Given the description of an element on the screen output the (x, y) to click on. 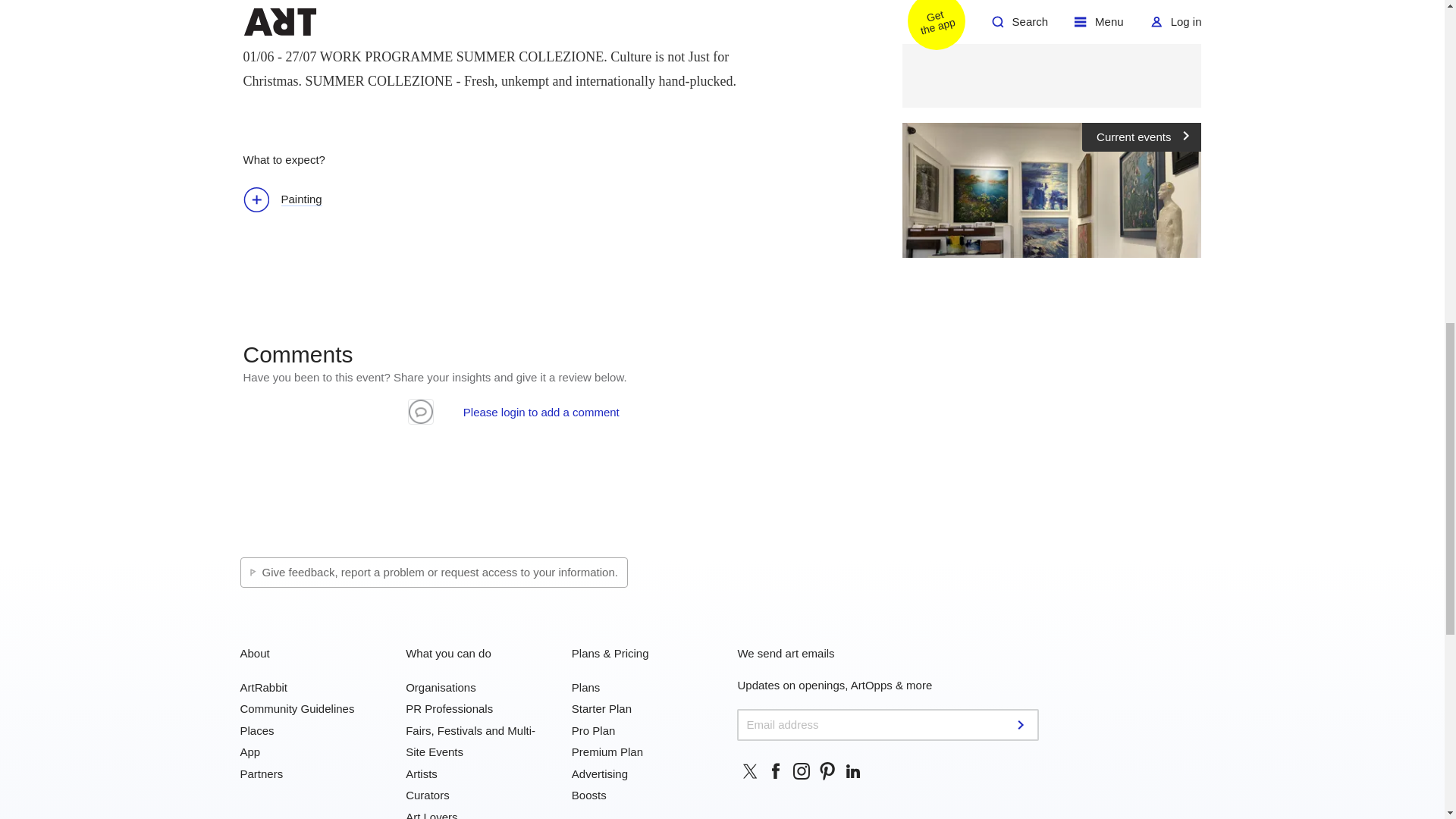
submit (1021, 724)
Painting (289, 200)
